Given the description of an element on the screen output the (x, y) to click on. 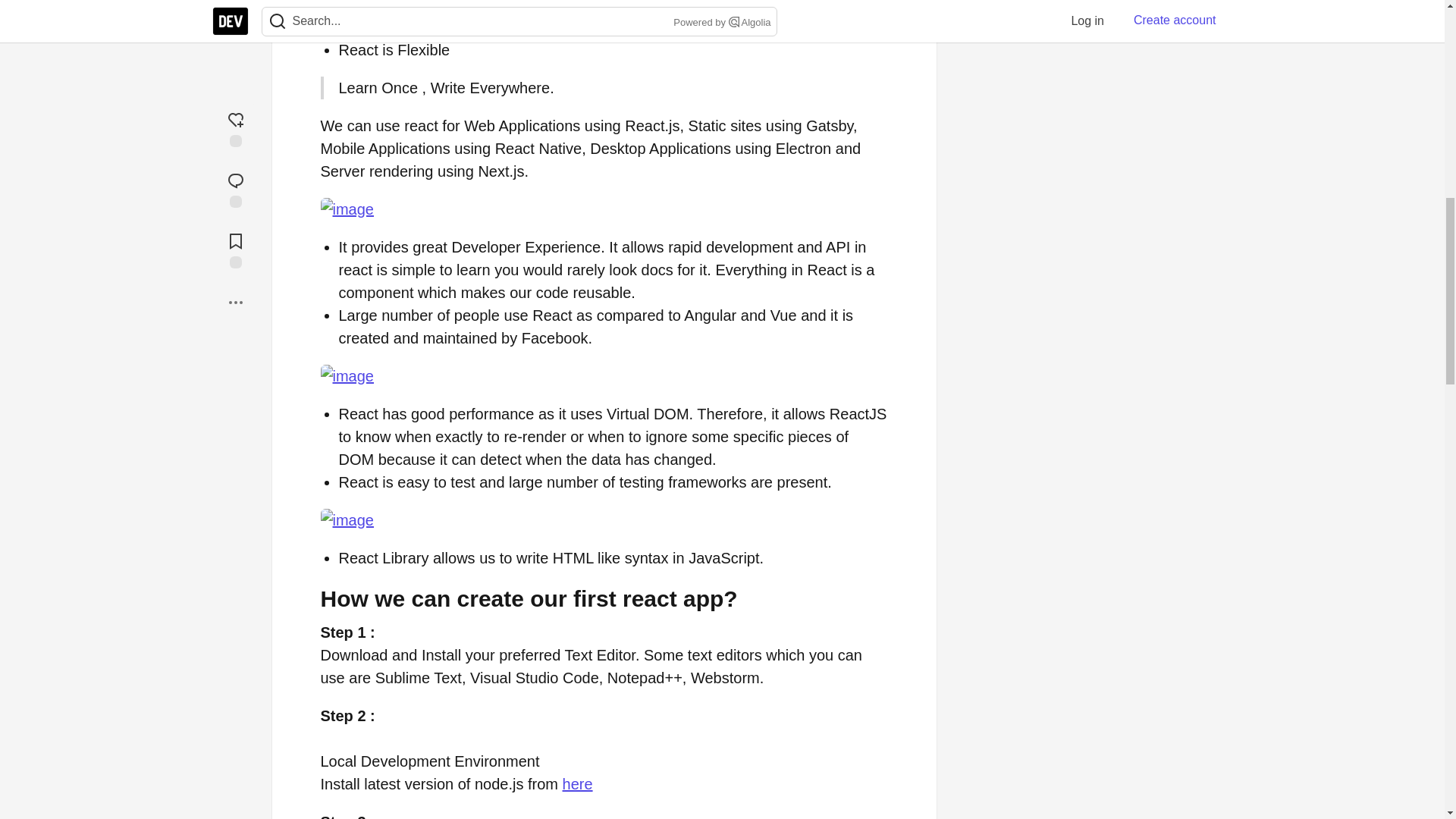
here (577, 783)
